Given the description of an element on the screen output the (x, y) to click on. 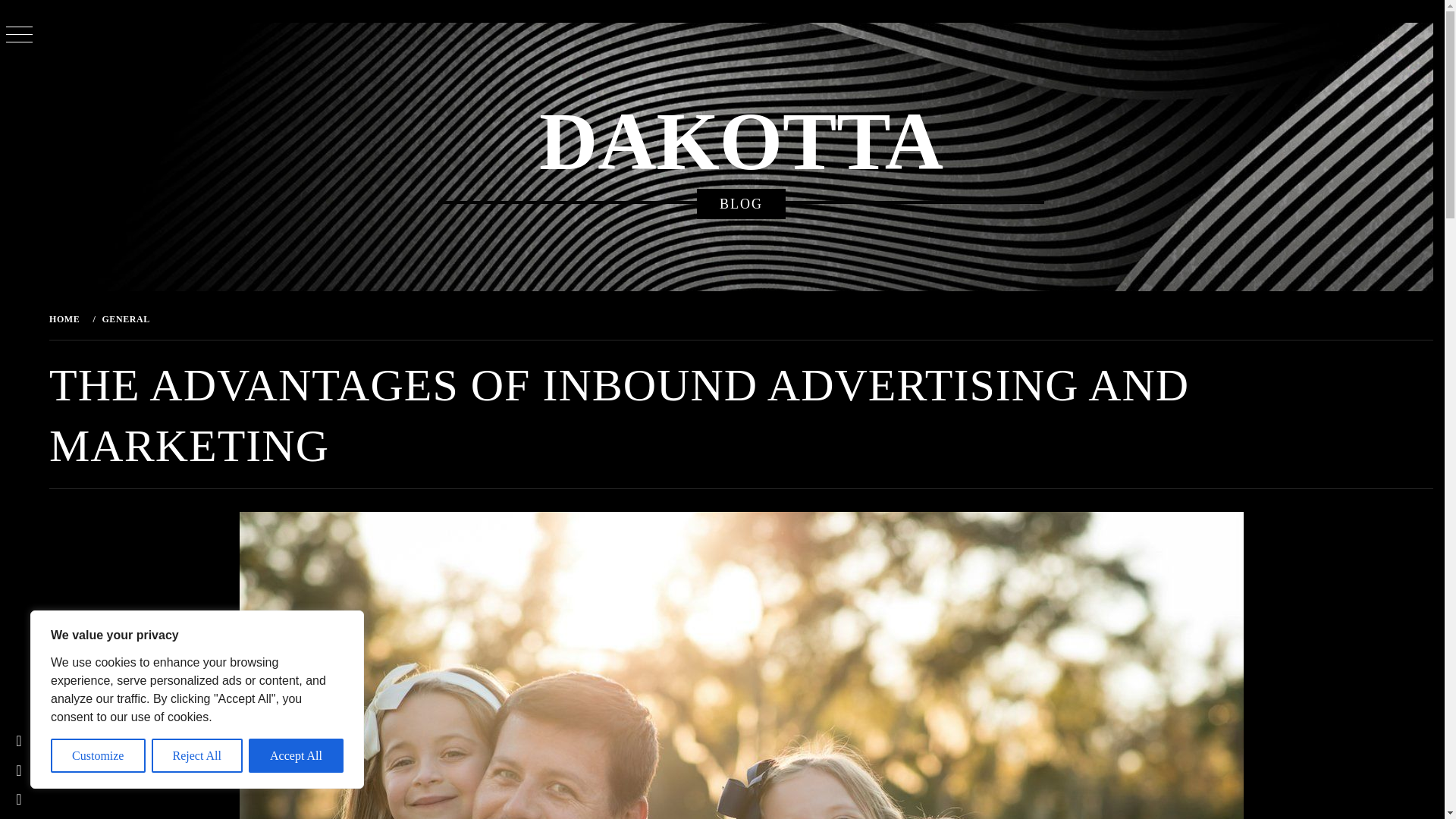
DAKOTTA (740, 141)
Customize (97, 755)
GENERAL (124, 318)
THE ADVANTAGES OF INBOUND ADVERTISING AND MARKETING (326, 318)
Reject All (197, 755)
Accept All (295, 755)
HOME (66, 318)
